Given the description of an element on the screen output the (x, y) to click on. 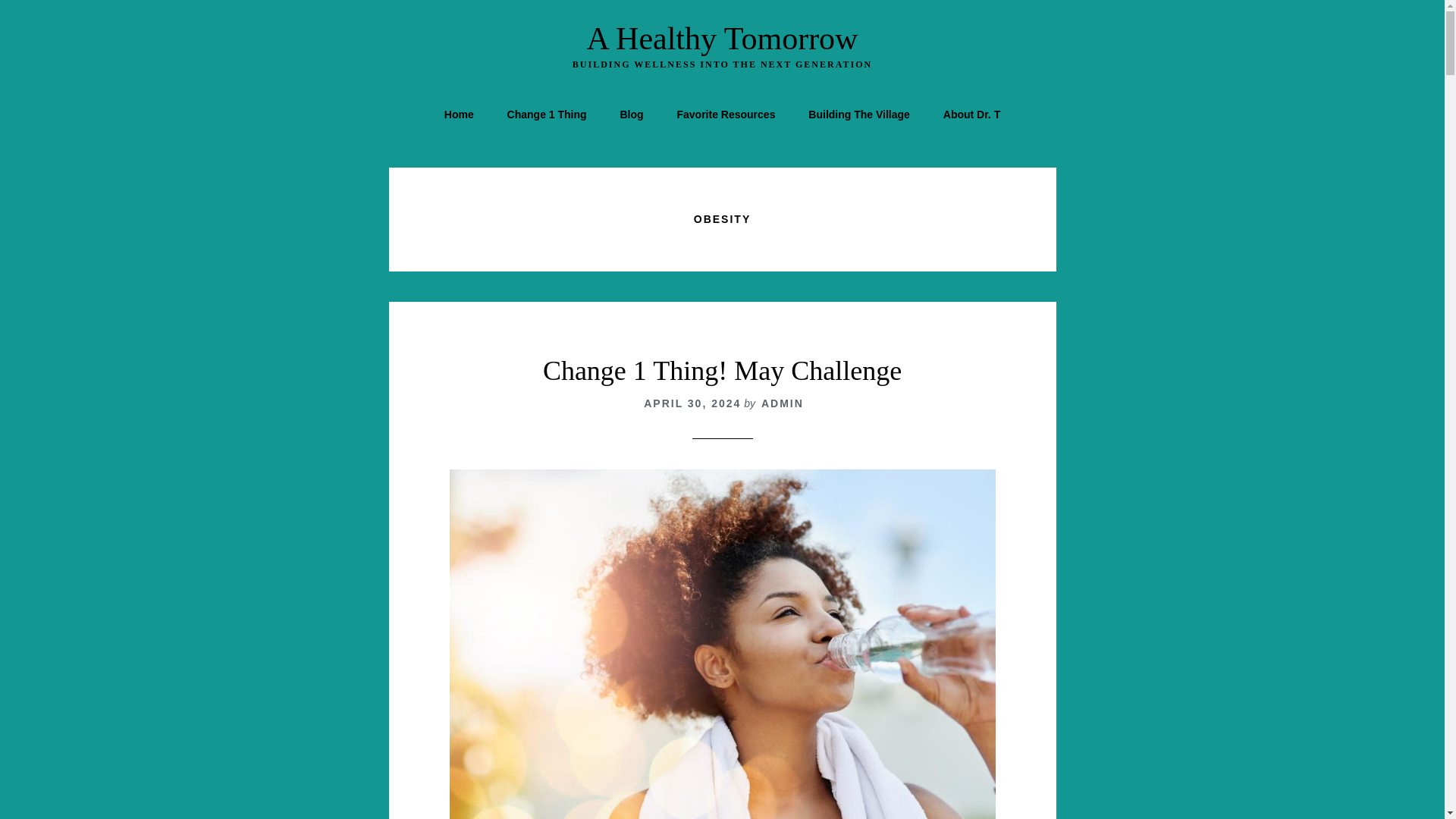
Home (459, 114)
Change 1 Thing (547, 114)
Building The Village (858, 114)
Blog (631, 114)
Change 1 Thing! May Challenge (722, 370)
ADMIN (782, 403)
A Healthy Tomorrow (722, 38)
About Dr. T (971, 114)
Favorite Resources (725, 114)
